Given the description of an element on the screen output the (x, y) to click on. 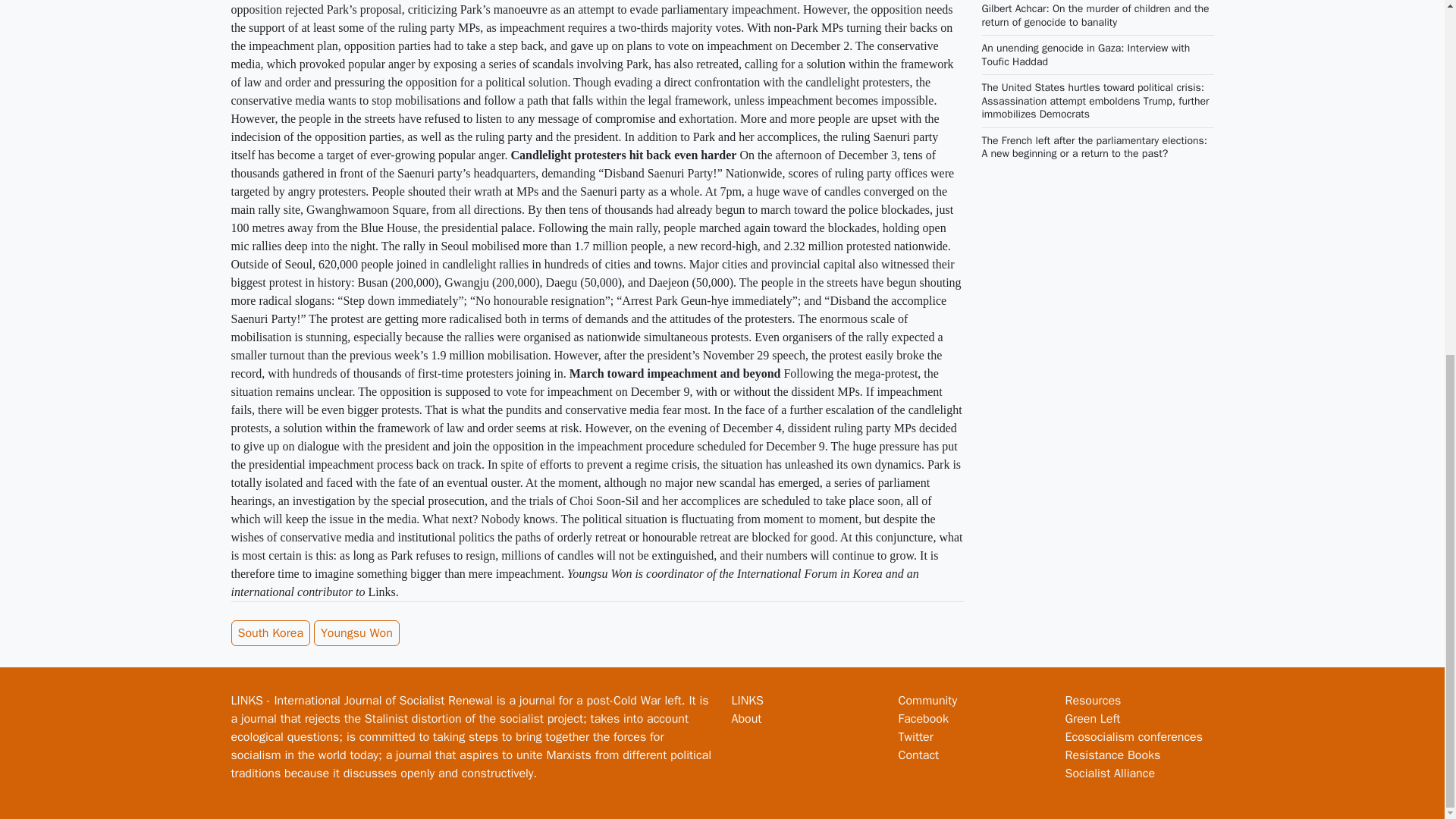
South Korea (270, 632)
An unending genocide in Gaza: Interview with Toufic Haddad (1085, 54)
Youngsu Won (356, 632)
